Given the description of an element on the screen output the (x, y) to click on. 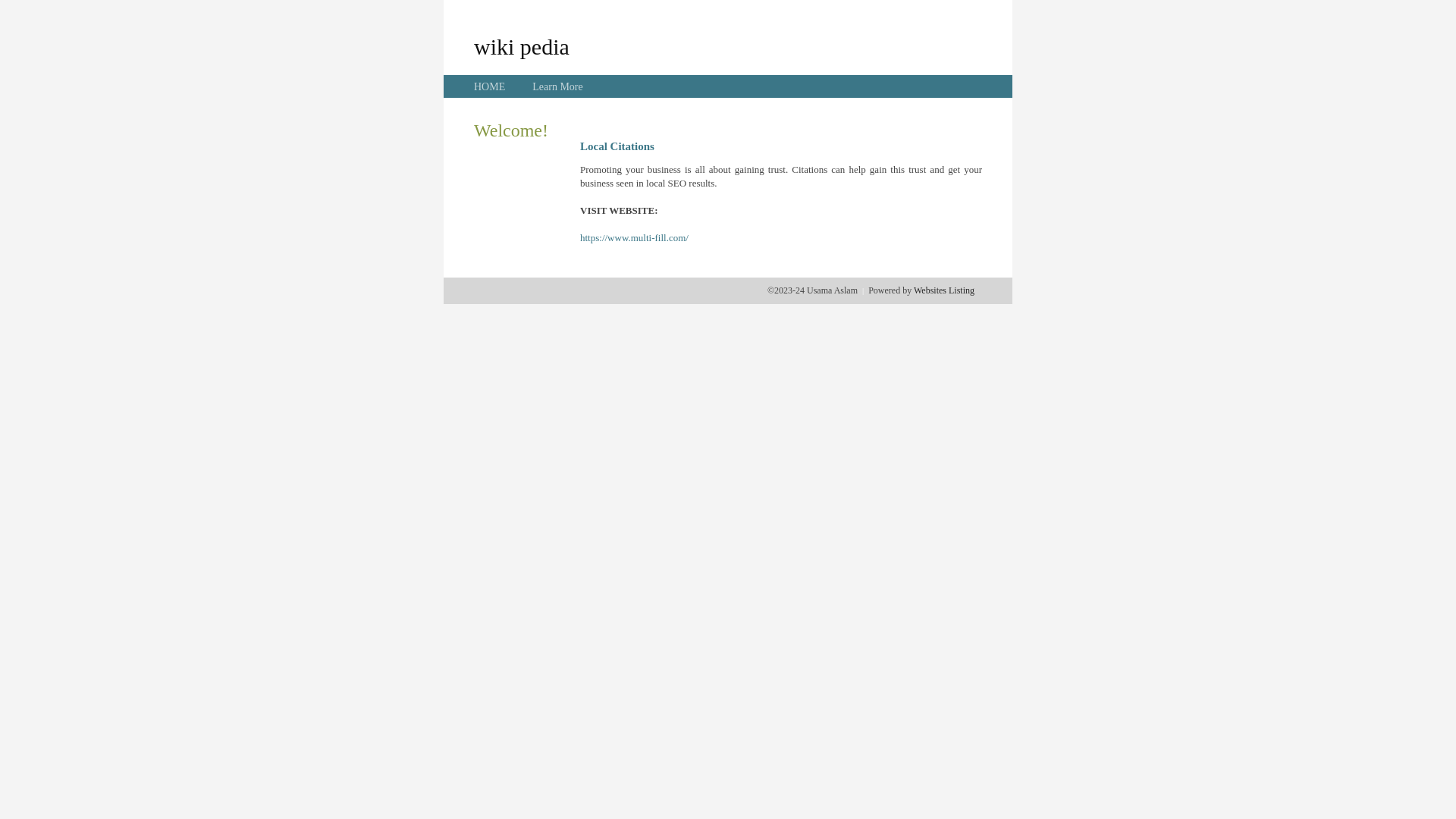
https://www.multi-fill.com/ Element type: text (634, 237)
Websites Listing Element type: text (943, 290)
HOME Element type: text (489, 86)
wiki pedia Element type: text (521, 46)
Learn More Element type: text (557, 86)
